Given the description of an element on the screen output the (x, y) to click on. 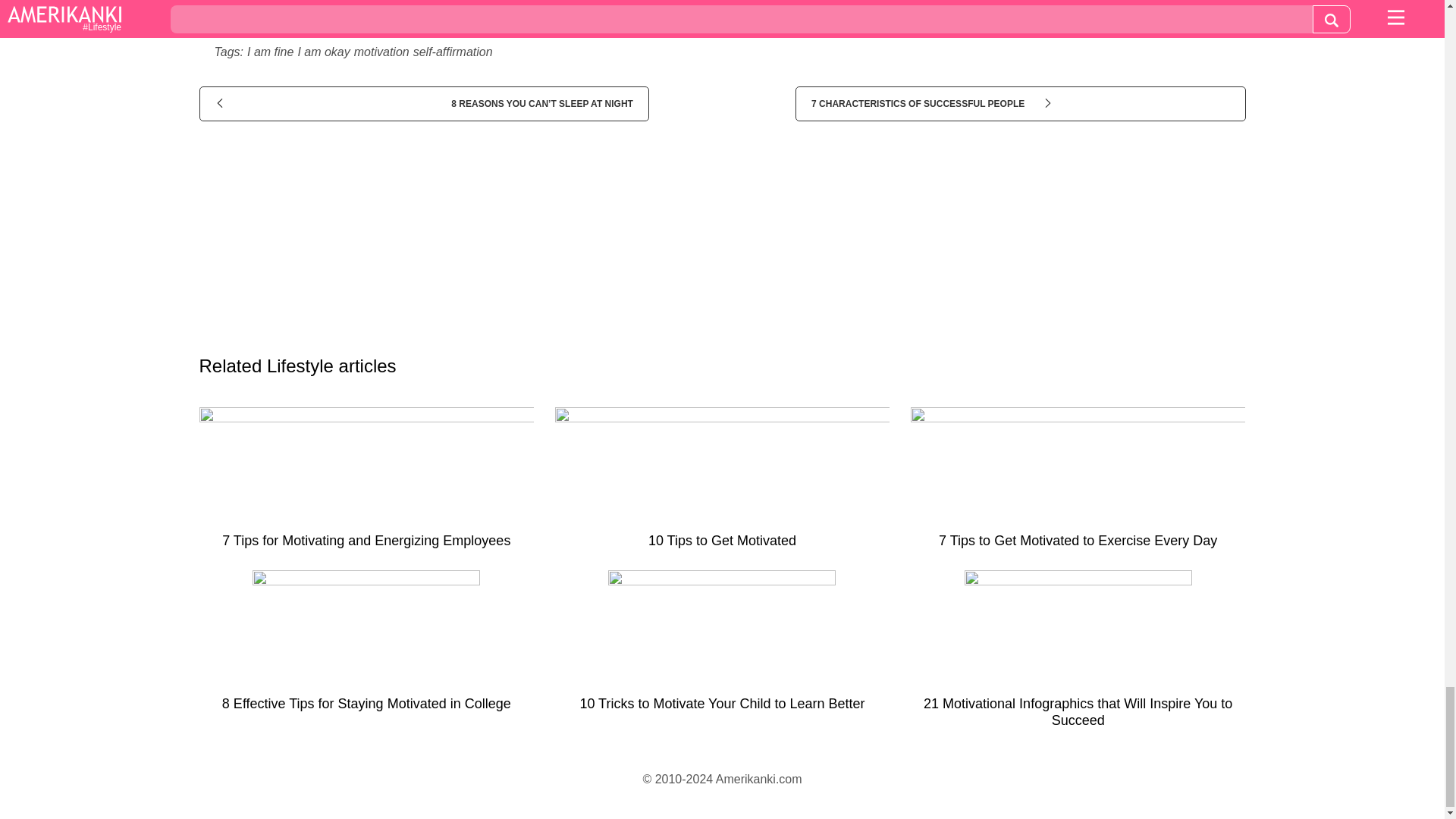
Share on Twitter (748, 13)
Share on Facebook (381, 13)
7 Tips for Motivating and Energizing Employees (366, 484)
7 CHARACTERISTICS OF SUCCESSFUL PEOPLE (1019, 103)
7 Characteristics of Successful People (1019, 103)
